Given the description of an element on the screen output the (x, y) to click on. 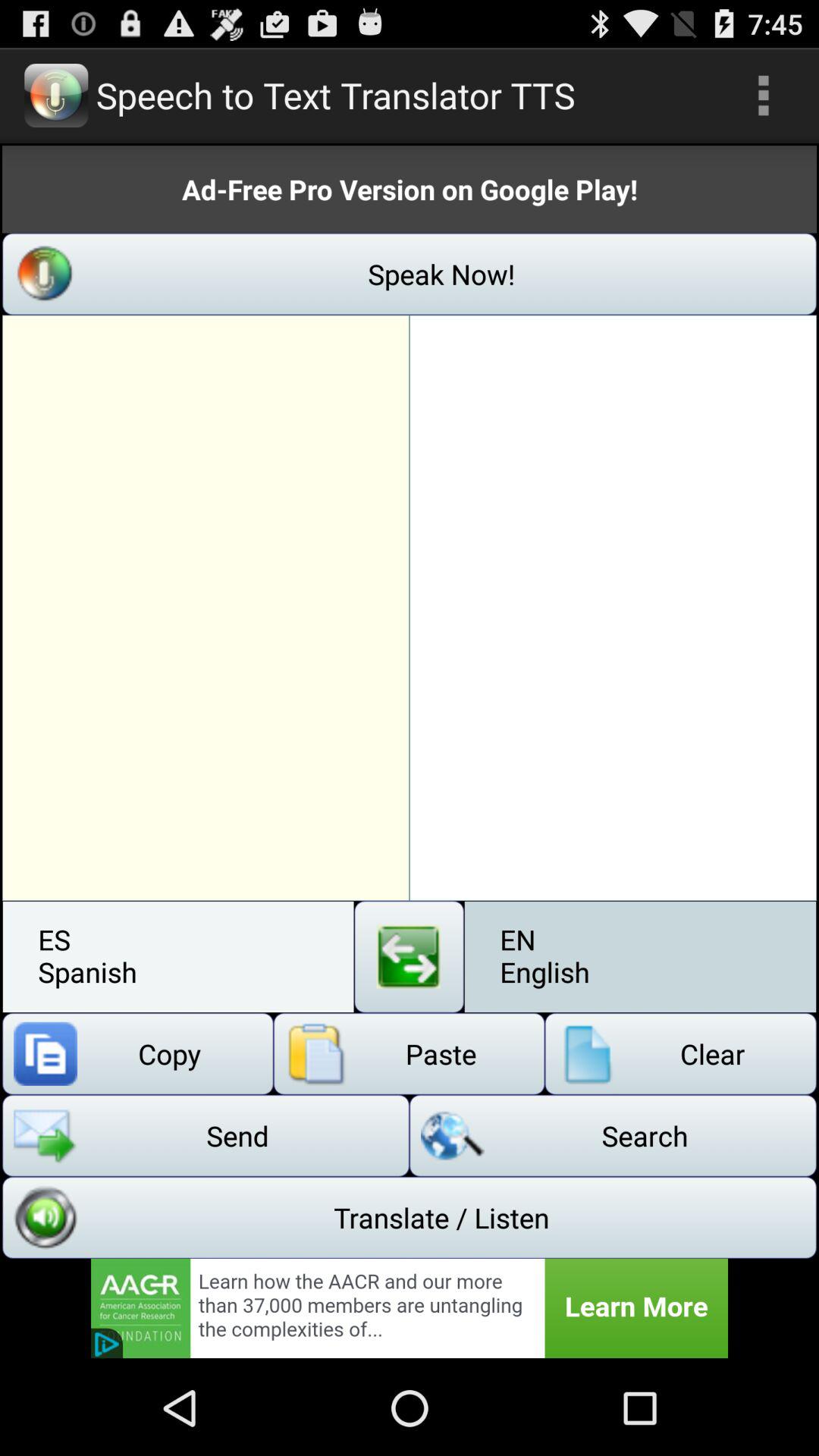
advertisement (409, 1308)
